Given the description of an element on the screen output the (x, y) to click on. 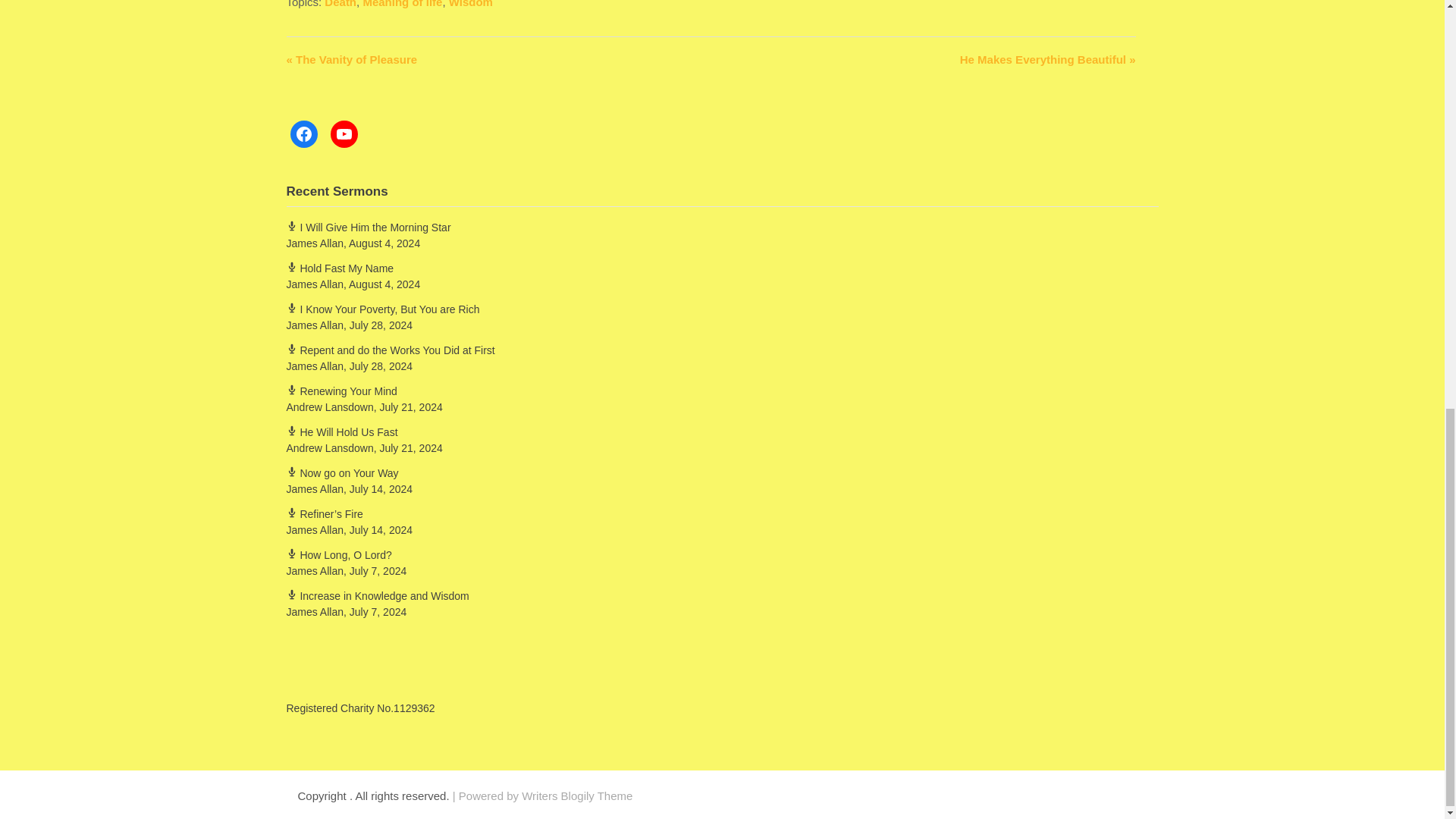
Wisdom (470, 4)
Hold Fast My Name (340, 268)
Now go on Your Way (342, 472)
Increase in Knowledge and Wisdom (377, 595)
How Long, O Lord? (338, 554)
Repent and do the Works You Did at First (390, 349)
He Will Hold Us Fast (341, 431)
Meaning of life (402, 4)
I Will Give Him the Morning Star (368, 227)
Death (340, 4)
